Given the description of an element on the screen output the (x, y) to click on. 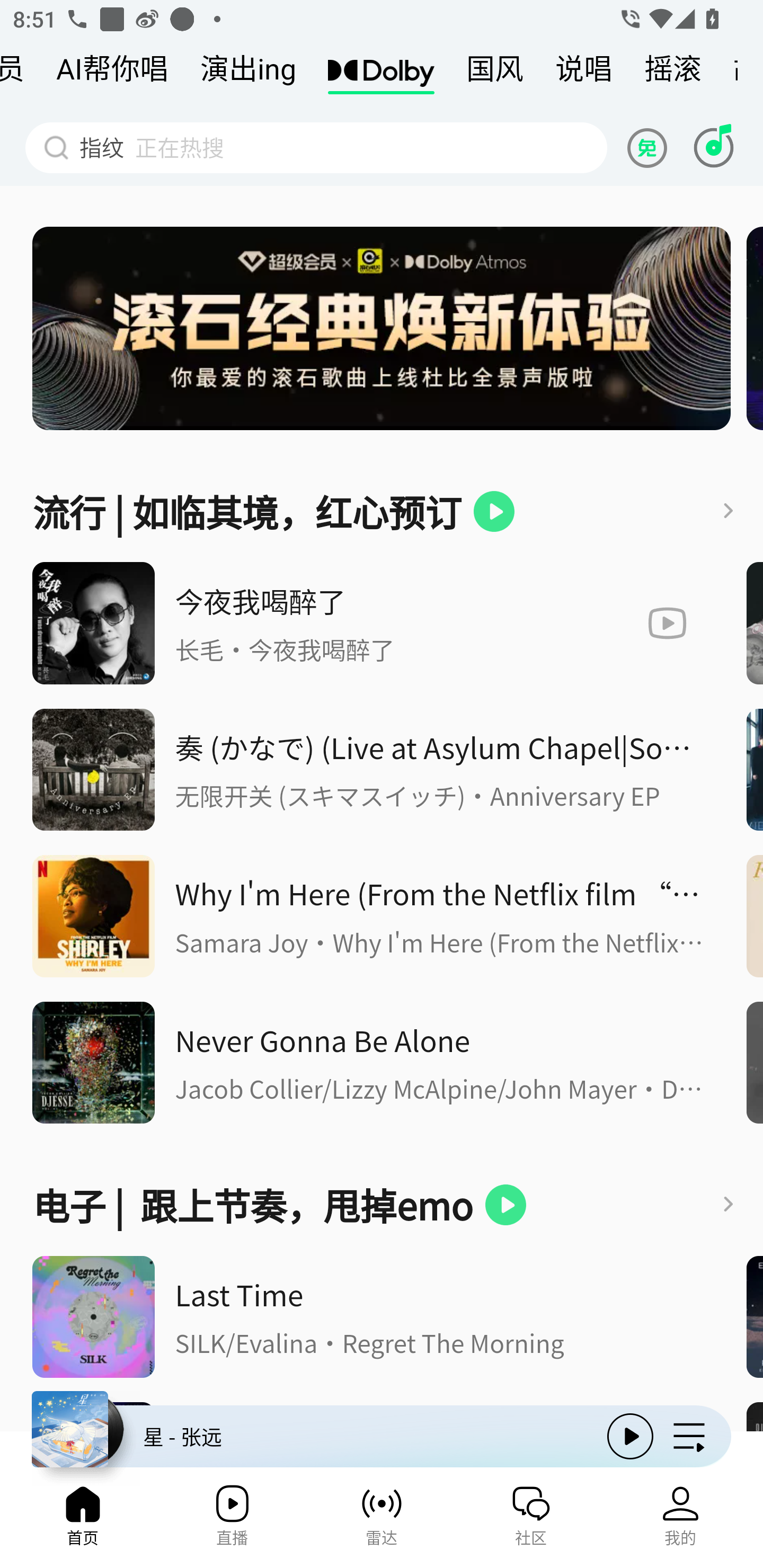
AI帮你唱 (112, 73)
演出ing (248, 73)
杜比 (381, 73)
国风 (494, 73)
说唱 (583, 73)
摇滚 (672, 73)
搜索 沉溺连续在榜28天🔥 沉溺 连续在榜28天🔥 (316, 147)
看广告免费听歌 (649, 146)
听歌识曲 (713, 146)
 已暂停 (494, 511)
更多 (730, 511)
今夜我喝醉了。长毛·今夜我喝醉了 (93, 623)
今夜我喝醉了。长毛·今夜我喝醉了 (381, 623)
播放 今夜我喝醉了 MV (646, 622)
 已暂停 (505, 1204)
更多 (730, 1204)
Last Time。SILK/Evalina·Regret The Morning (93, 1317)
Last Time。SILK/Evalina·Regret The Morning (440, 1317)
星 - 张远 播放 歌曲队列 (381, 1442)
播放 (630, 1435)
歌曲队列 (688, 1435)
首页 (82, 1521)
直播 (231, 1521)
雷达 (381, 1521)
社区 (530, 1521)
我的 (680, 1521)
